Given the description of an element on the screen output the (x, y) to click on. 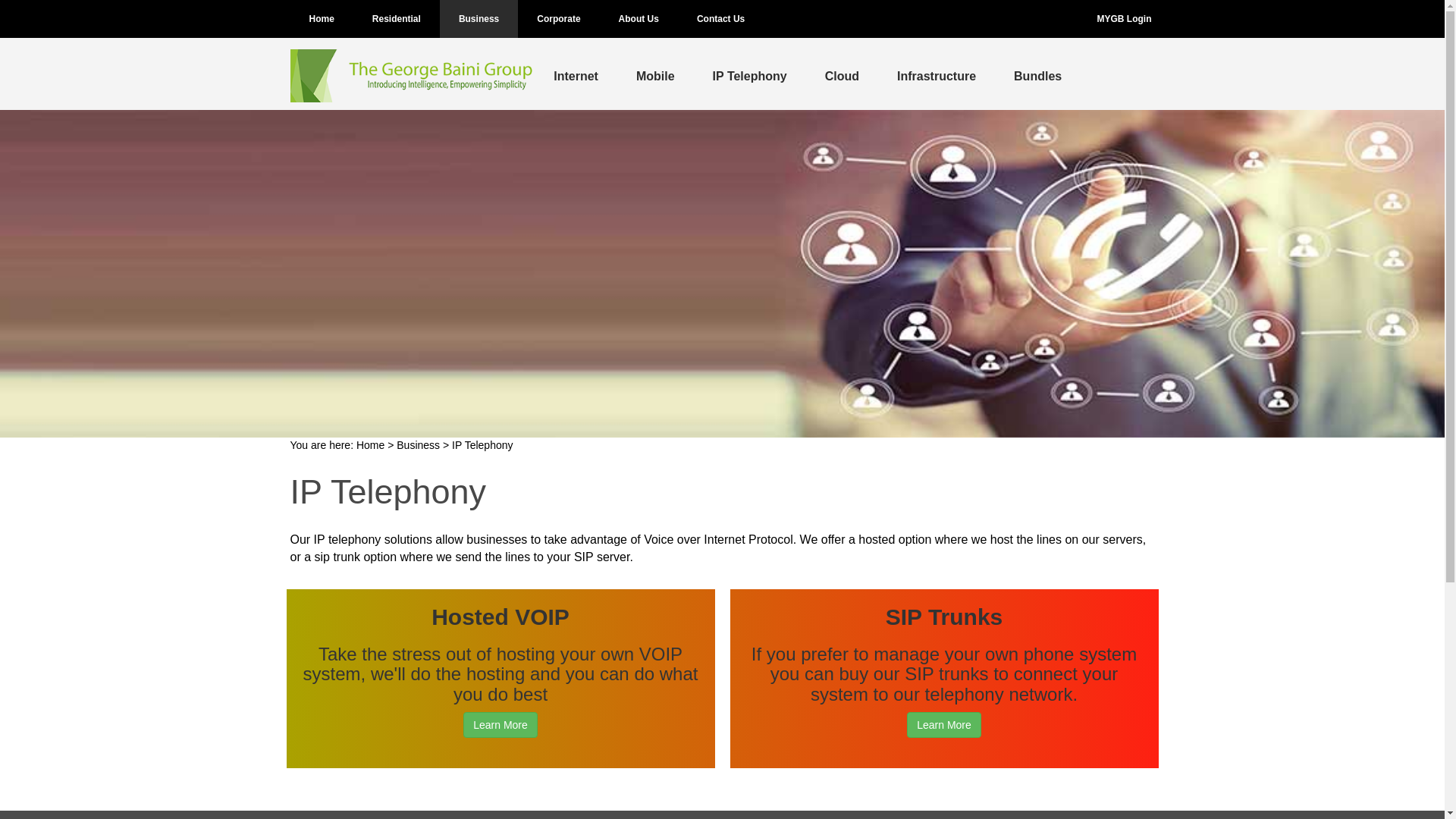
Corporate Element type: text (558, 18)
Home Element type: text (370, 445)
Business Element type: text (417, 445)
Infrastructure Element type: text (936, 73)
About Us Element type: text (638, 18)
Business Element type: text (478, 18)
Cloud Element type: text (842, 73)
Learn More Element type: text (500, 724)
Internet Element type: text (575, 73)
Home Element type: text (320, 18)
Learn More Element type: text (943, 724)
Contact Us Element type: text (720, 18)
IP Telephony Element type: text (481, 445)
MYGB Login Element type: text (1123, 18)
Residential Element type: text (396, 18)
Bundles Element type: text (1037, 73)
Mobile Element type: text (655, 73)
IP Telephony Element type: text (749, 73)
